Given the description of an element on the screen output the (x, y) to click on. 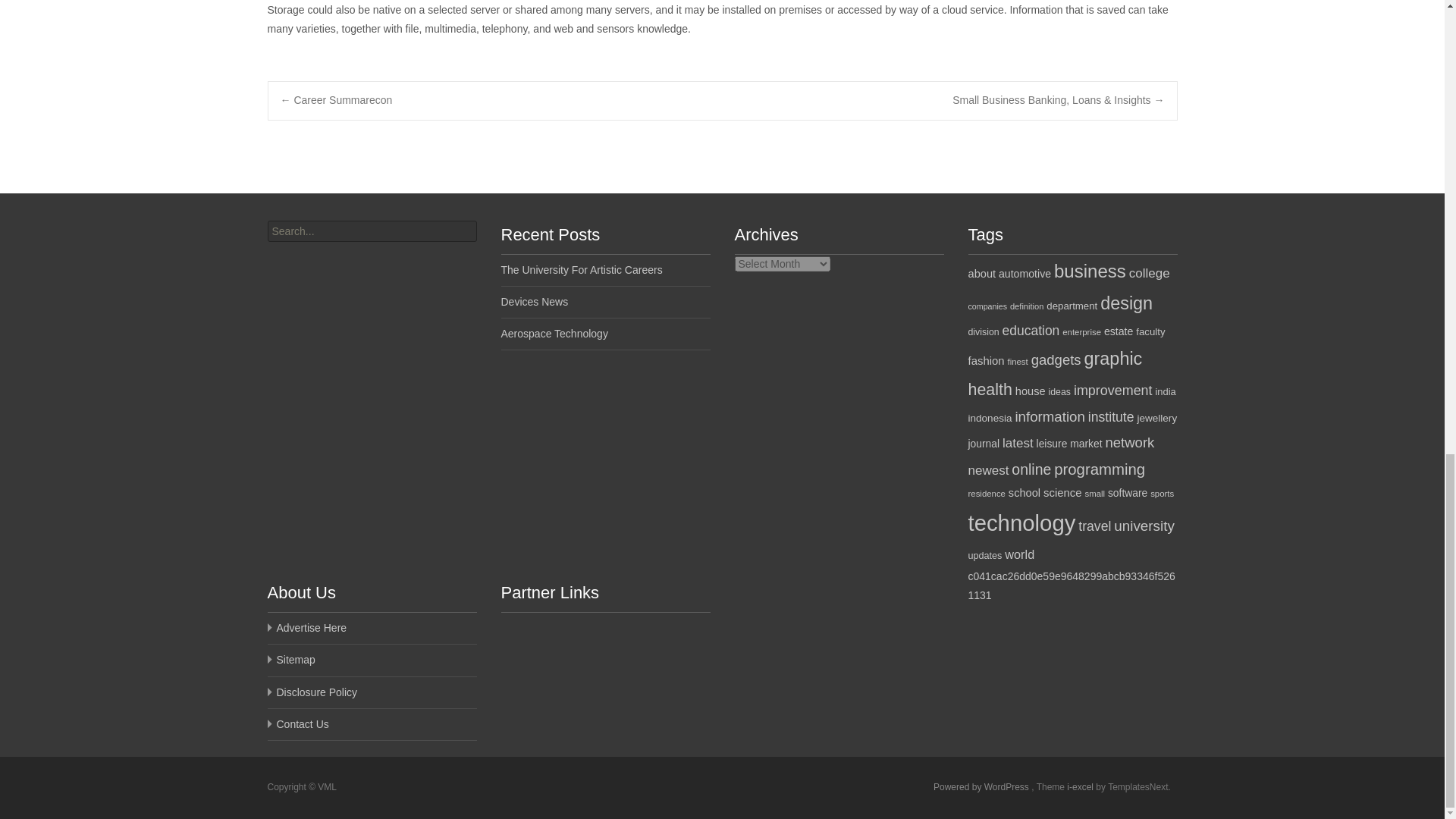
Devices News (533, 301)
enterprise (1081, 331)
fashion (986, 360)
finest (1017, 361)
business (1089, 271)
definition (1026, 306)
The University For Artistic Careers (581, 269)
division (983, 331)
education (1031, 330)
Multipurpose Business WooCommerce Theme (1081, 787)
Semantic Personal Publishing Platform (981, 787)
companies (987, 306)
automotive (1024, 273)
college (1149, 273)
department (1071, 306)
